Given the description of an element on the screen output the (x, y) to click on. 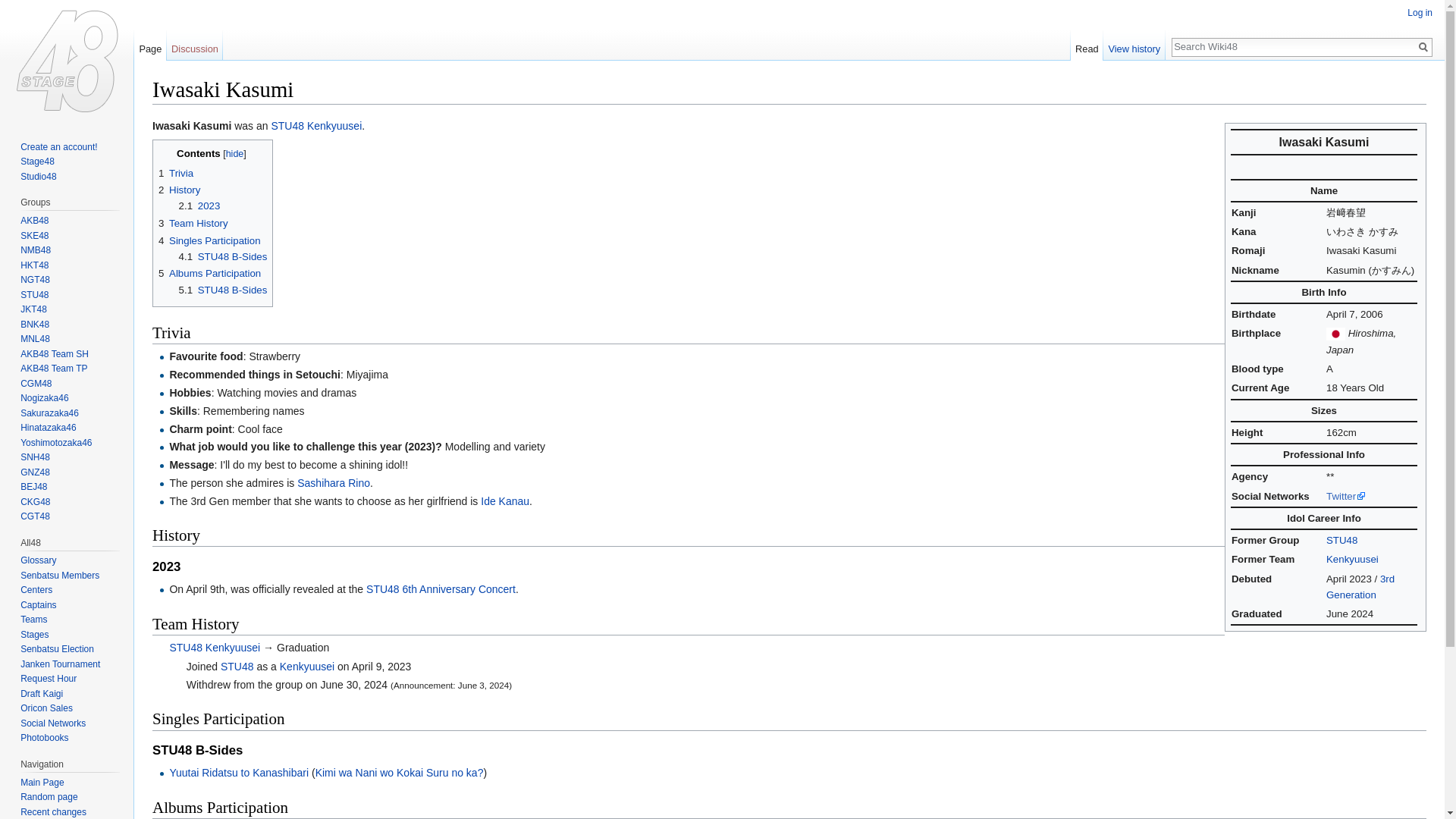
STU48 Kenkyuusei (334, 125)
Log in (1419, 12)
STU48 Kenkyuusei (1352, 559)
hide (234, 153)
STU48 (287, 125)
Kimi wa Nani wo Kokai Suru no ka? (399, 772)
Sashihara Rino (333, 482)
Go (1423, 46)
STU48 Members (1360, 586)
Go (1423, 46)
